Given the description of an element on the screen output the (x, y) to click on. 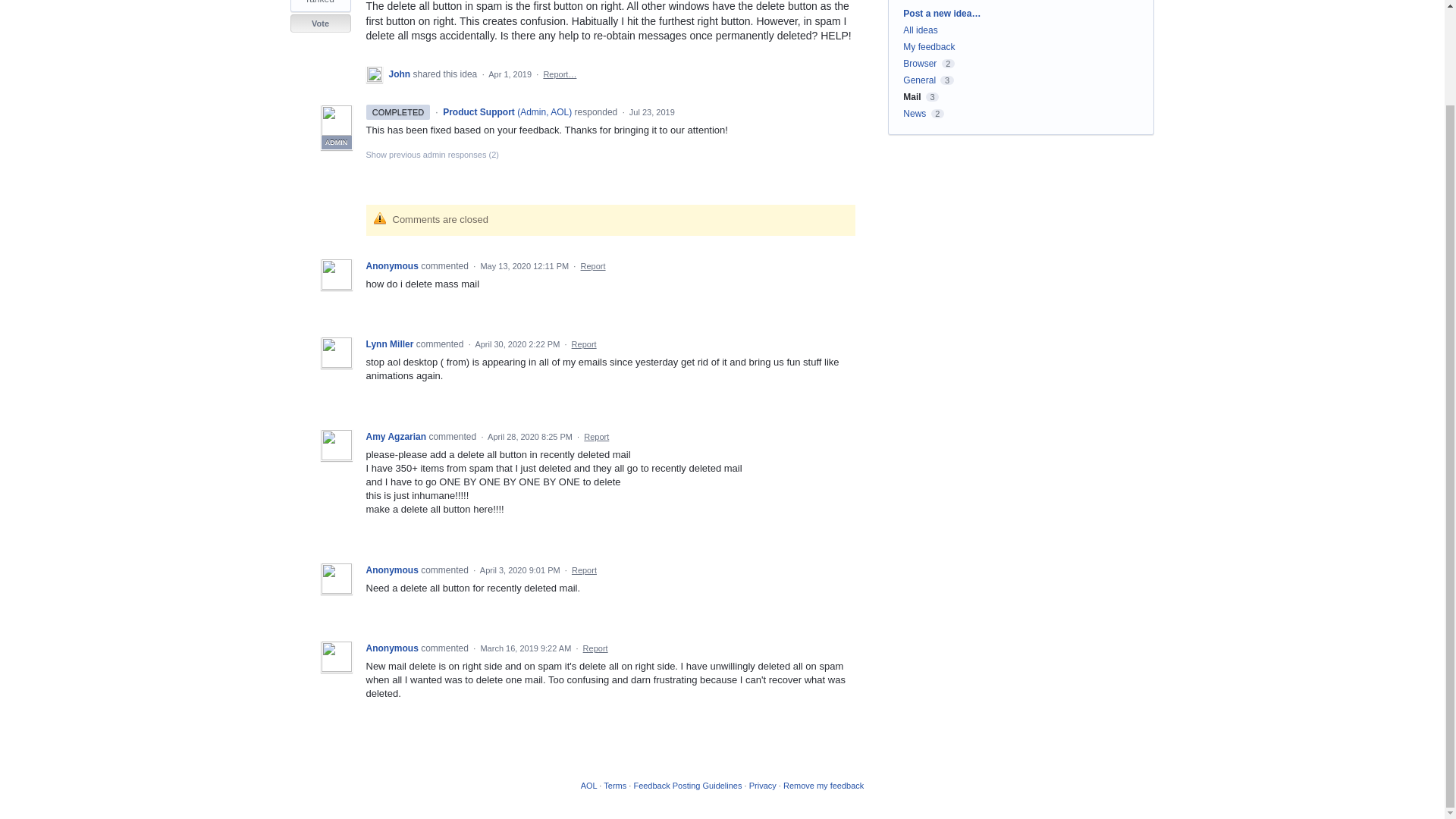
Amy Agzarian (396, 436)
View all ideas in category General (919, 80)
Anonymous (392, 266)
Vote (319, 23)
John (400, 73)
Report (595, 436)
Lynn Miller (389, 344)
This idea is Completed - updated almost 5 years ago (397, 111)
View all ideas in category Browser (919, 63)
Idea has been closed (319, 23)
COMPLETED (397, 112)
Report (592, 266)
Report (584, 343)
